Given the description of an element on the screen output the (x, y) to click on. 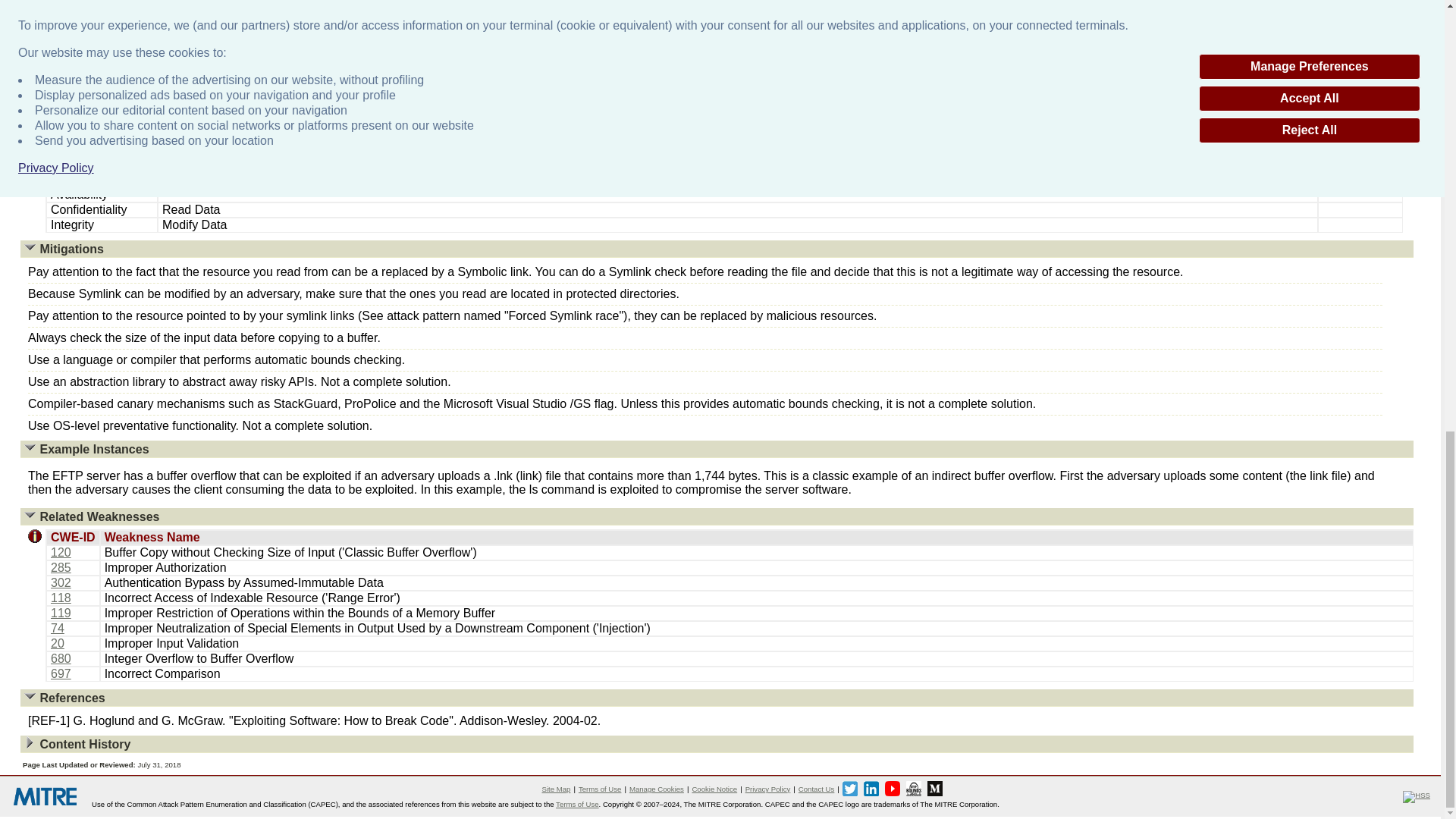
CAPEC on YouTube (892, 788)
CAPEC on Twitter (850, 788)
CAPEC Blog on Medium (934, 788)
CAPEC on LinkedIn (871, 788)
CAPEC Out-of-Bounds-Read Podcast (913, 788)
HSSEDI (1416, 797)
